Given the description of an element on the screen output the (x, y) to click on. 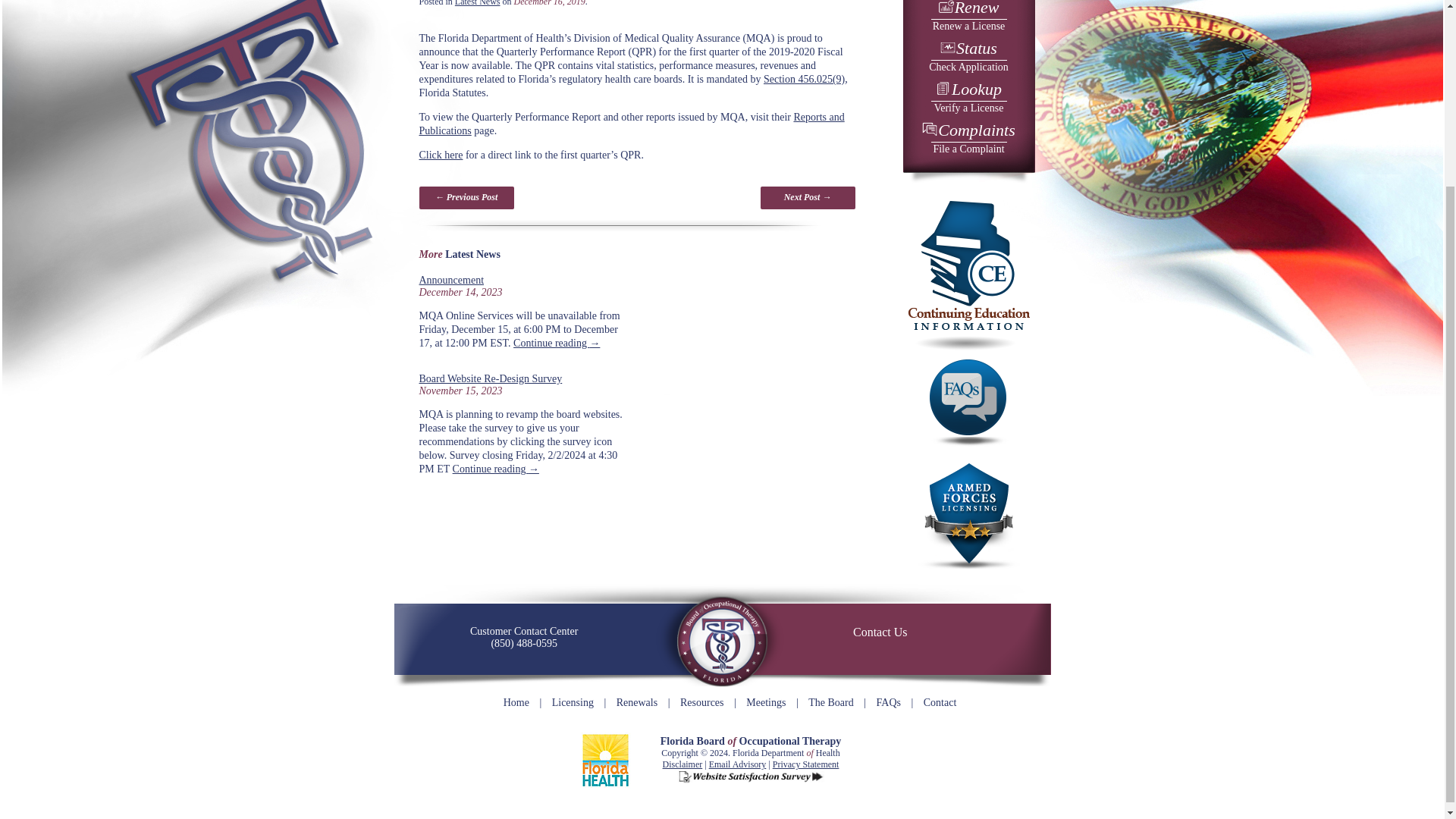
Divider (620, 225)
Contact (967, 138)
Latest News (939, 702)
File A Complaint (477, 3)
Click here (967, 138)
Announcement (441, 154)
Contact Us (451, 279)
Board Website Re-Design Survey (967, 56)
Renew Your License (880, 631)
Reports and Publications (490, 378)
Home (967, 18)
